Given the description of an element on the screen output the (x, y) to click on. 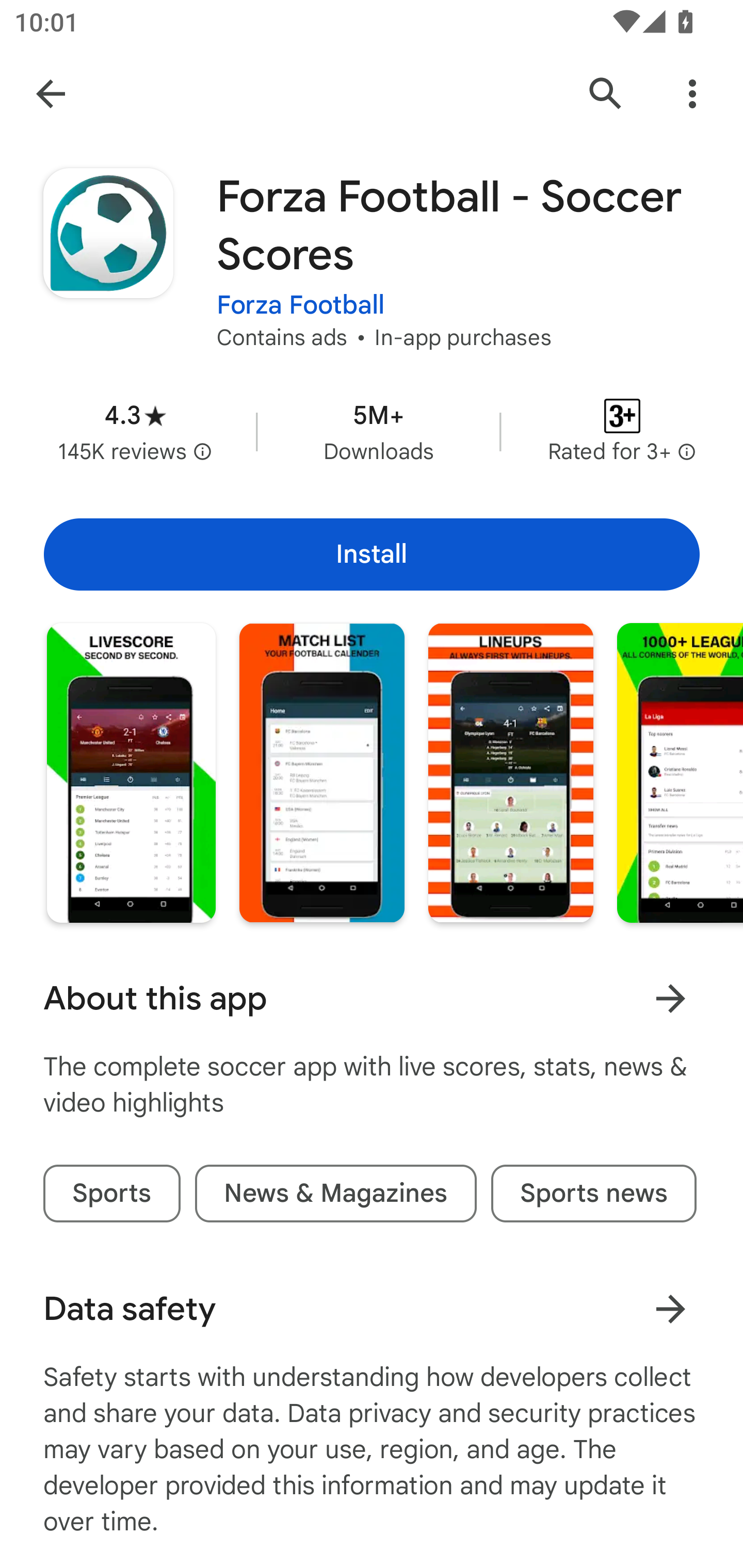
Navigate up (50, 93)
Search Google Play (605, 93)
More Options (692, 93)
Forza Football (300, 304)
Average rating 4.3 stars in 145 thousand reviews (135, 431)
Content rating Rated for 3+ (622, 431)
Install (371, 554)
Screenshot "1" of "5" (130, 771)
Screenshot "2" of "5" (321, 771)
Screenshot "3" of "5" (510, 771)
Screenshot "4" of "5" (680, 771)
About this app Learn more About this app (371, 998)
Learn more About this app (670, 997)
Sports tag (111, 1193)
News & Magazines tag (335, 1193)
Sports news tag (593, 1193)
Data safety Learn more about data safety (371, 1309)
Learn more about data safety (670, 1308)
